Given the description of an element on the screen output the (x, y) to click on. 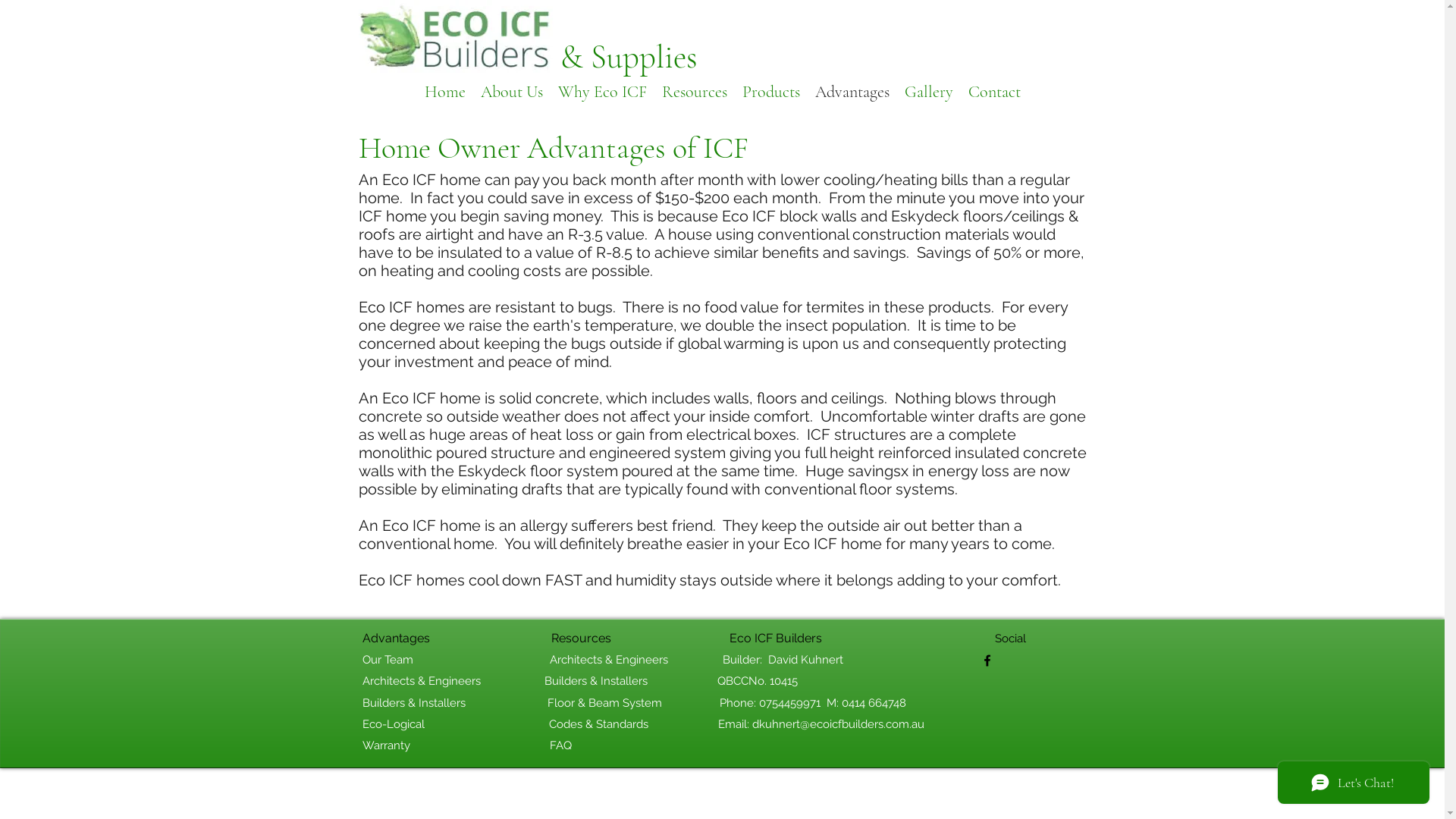
Resources Element type: text (693, 89)
dkuhnert@ecoicfbuilders.com.au Element type: text (838, 724)
Our Team Element type: text (387, 659)
FAQ Element type: text (560, 745)
Builders & Installers Element type: text (595, 680)
About Us Element type: text (511, 89)
Home Element type: text (445, 89)
Floor & Beam System Element type: text (604, 702)
Codes & Standards Element type: text (598, 724)
Contact Element type: text (993, 89)
Architects & Engineers  Element type: text (609, 659)
Warranty Element type: text (386, 745)
Architects & Engineers Element type: text (421, 680)
Why Eco ICF Element type: text (602, 89)
Builders & Installers Element type: text (413, 702)
Eco-Logical Element type: text (393, 724)
Advantages Element type: text (851, 89)
Gallery Element type: text (928, 89)
Products Element type: text (770, 89)
